Given the description of an element on the screen output the (x, y) to click on. 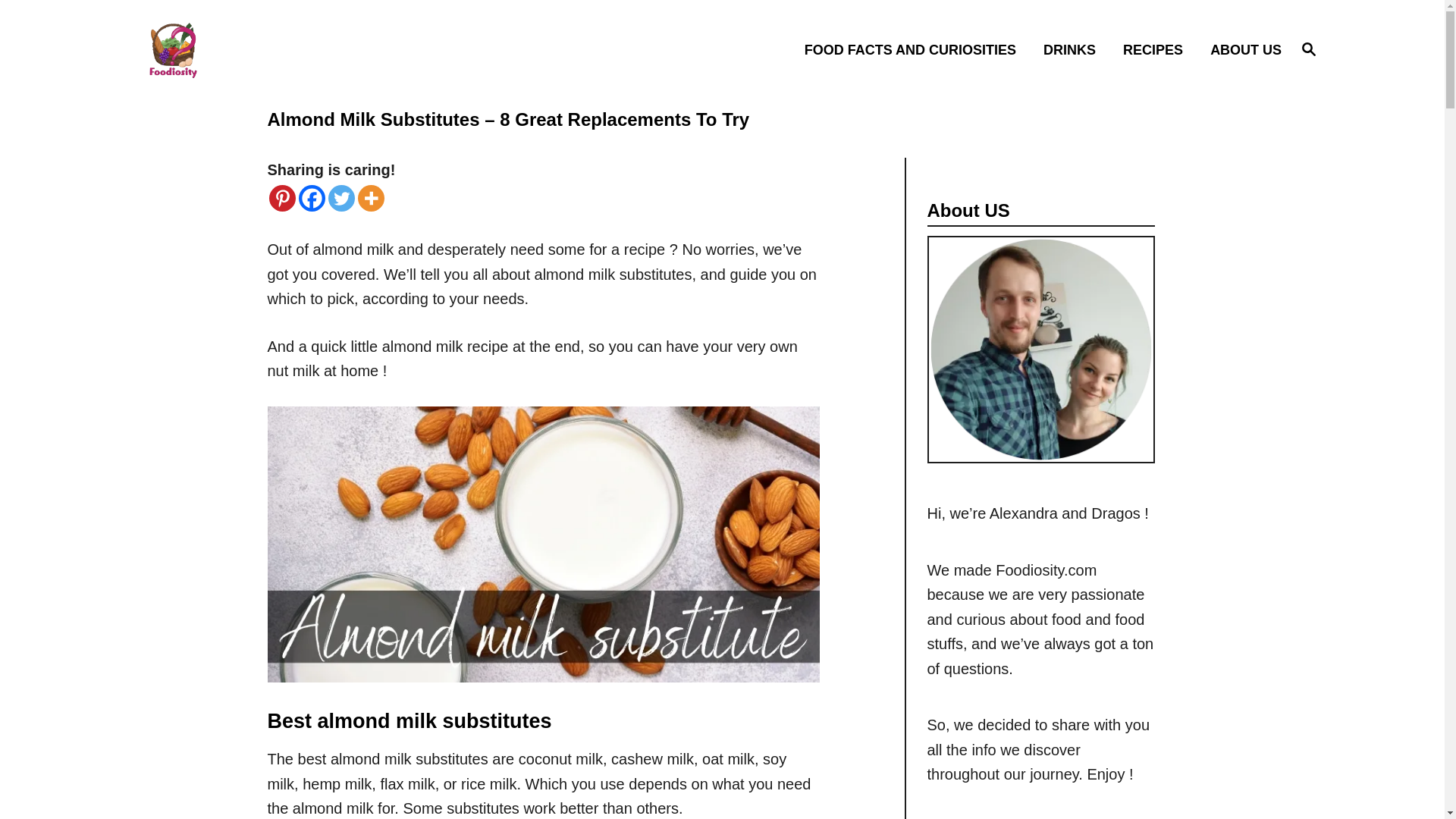
FOOD FACTS AND CURIOSITIES (913, 49)
DRINKS (1073, 49)
Facebook (311, 198)
Twitter (340, 198)
Pinterest (1308, 49)
Foodiosity (281, 198)
Magnifying Glass (285, 49)
ABOUT US (1308, 48)
More (1241, 49)
RECIPES (371, 198)
About US (1157, 49)
